Given the description of an element on the screen output the (x, y) to click on. 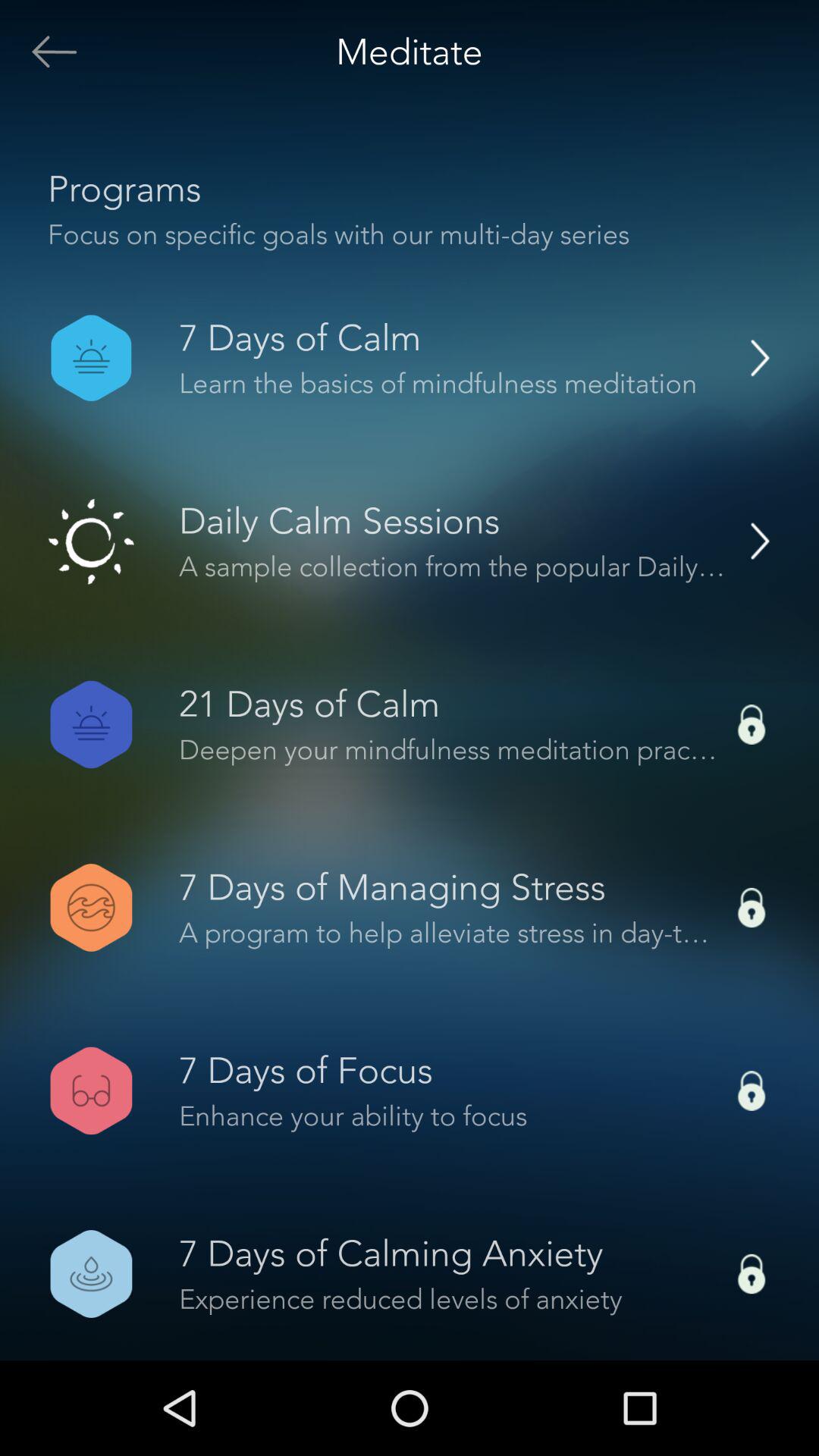
select the icon which is next to the 7 days of focus (751, 1090)
click on the first lock symbol (751, 724)
